Given the description of an element on the screen output the (x, y) to click on. 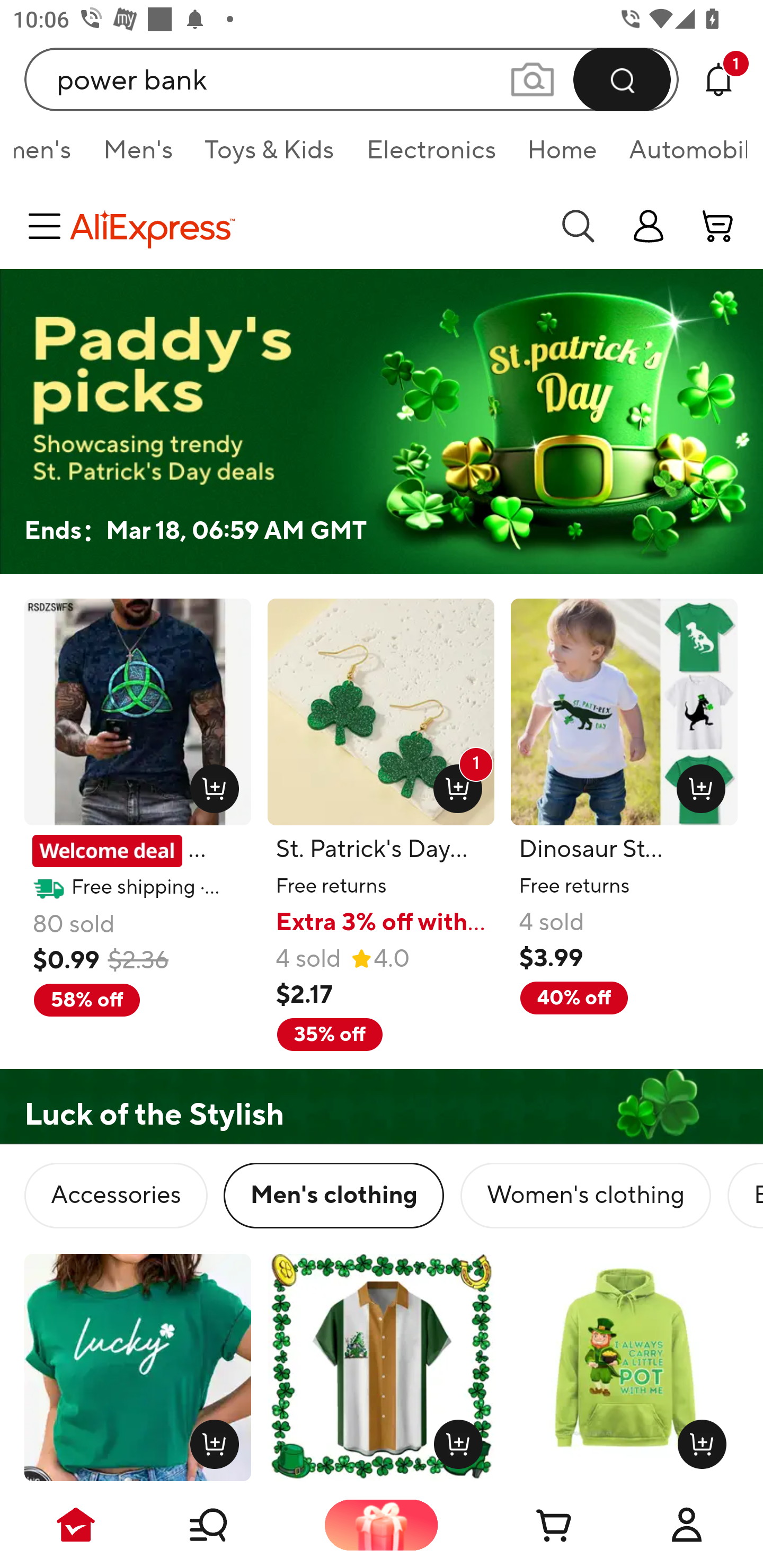
power bank (351, 79)
Men's (137, 155)
Toys & Kids (269, 155)
Electronics (430, 155)
Home (561, 155)
Automobile (679, 155)
aliexpress (305, 225)
category (47, 225)
shop (648, 225)
account (718, 225)
128x128.png_ (210, 784)
1 128x128.png_ (453, 784)
128x128.png_ (695, 784)
Accessories (115, 1195)
Men's clothing (333, 1195)
Women's clothing (585, 1195)
128x128.png_ (210, 1439)
128x128.png_ (454, 1439)
128x128.png_ (697, 1439)
Shop (228, 1524)
Cart (533, 1524)
Account (686, 1524)
